Given the description of an element on the screen output the (x, y) to click on. 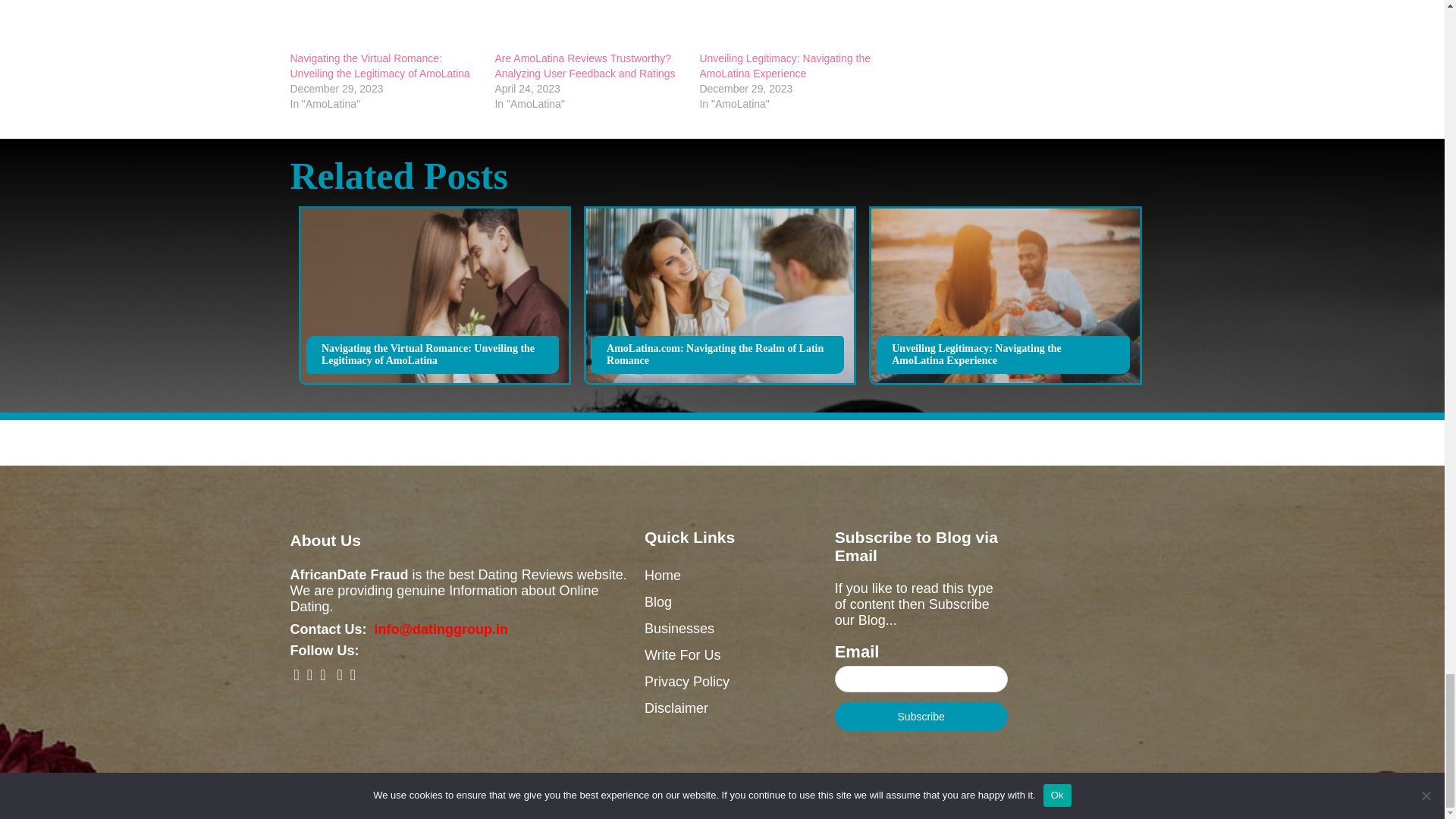
Unveiling Legitimacy: Navigating the AmoLatina Experience (793, 25)
Unveiling Legitimacy: Navigating the AmoLatina Experience (784, 65)
Subscribe (920, 716)
Unveiling Legitimacy: Navigating the AmoLatina Experience (784, 65)
